Given the description of an element on the screen output the (x, y) to click on. 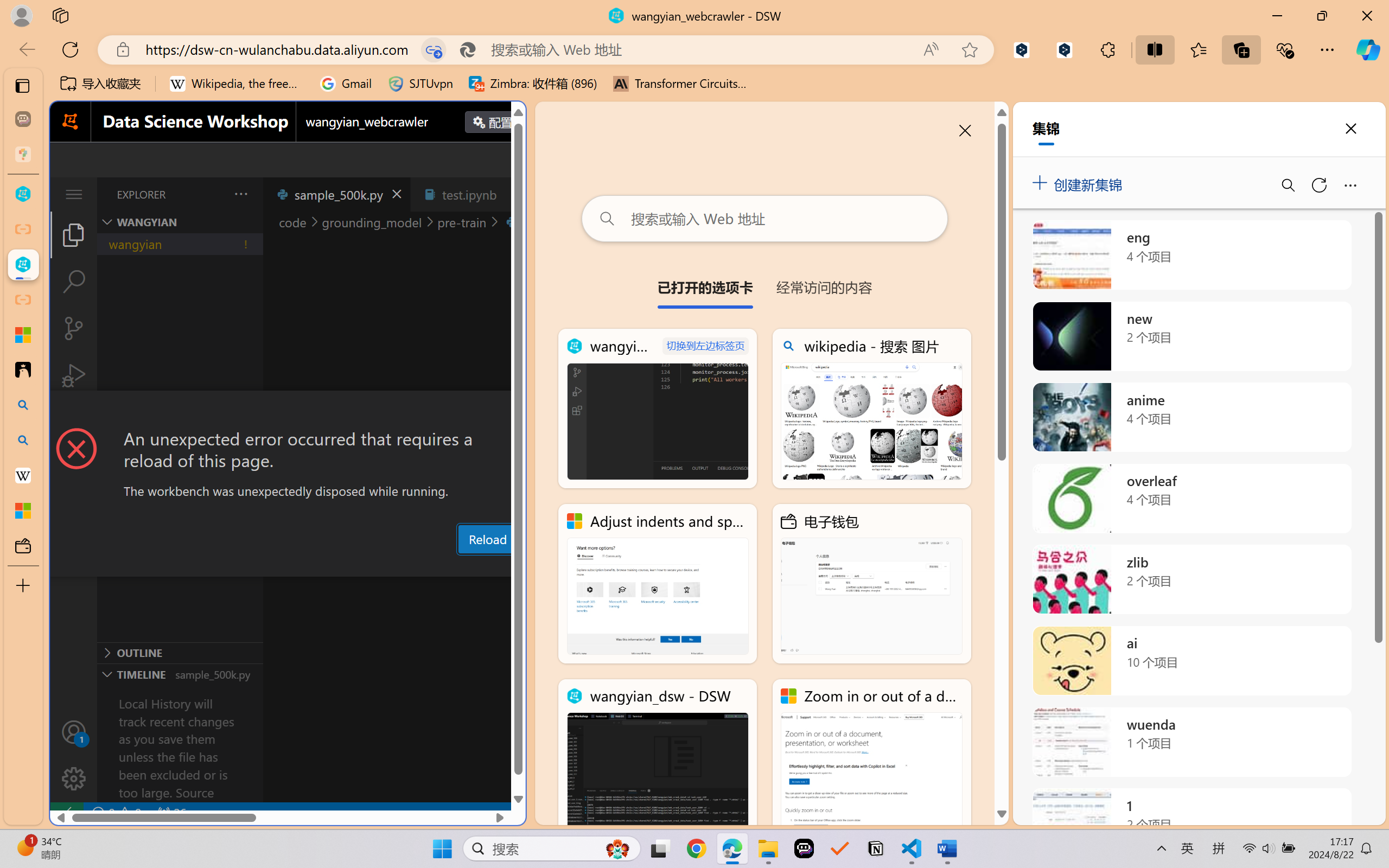
Manage (73, 778)
wangyian_dsw - DSW (22, 194)
Close (Ctrl+F4) (512, 194)
sample_500k.py (336, 194)
Source Control (Ctrl+Shift+G) (73, 328)
Adjust indents and spacing - Microsoft Support (657, 583)
Views and More Actions... (240, 193)
Timeline Section (179, 673)
Class: menubar compact overflow-menu-only (73, 194)
